Given the description of an element on the screen output the (x, y) to click on. 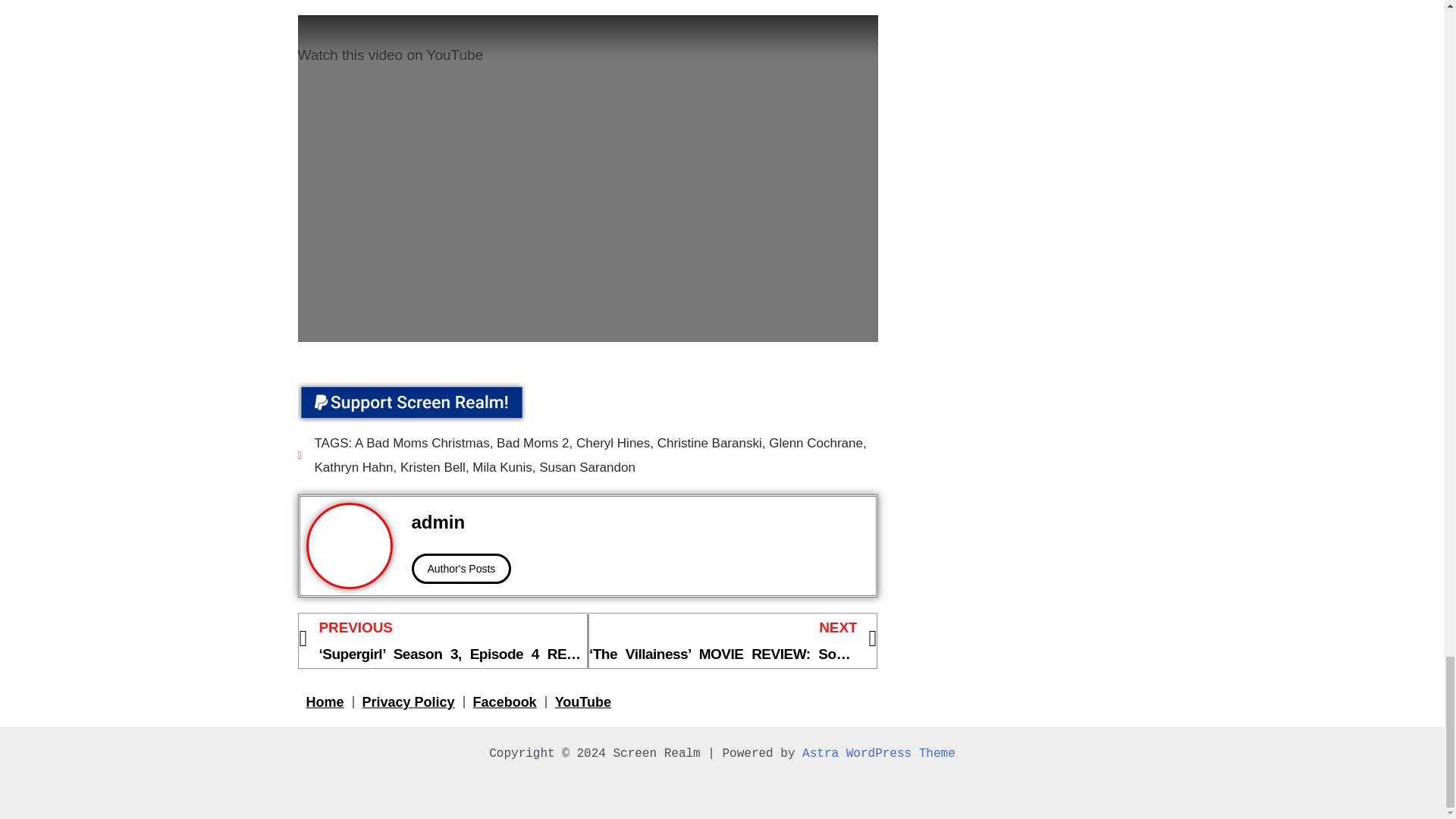
Kristen Bell (432, 467)
A Bad Moms Christmas (422, 442)
Christine Baranski (709, 442)
Susan Sarandon (586, 467)
Cheryl Hines (612, 442)
Kathryn Hahn (353, 467)
Author's Posts (460, 568)
admin (639, 522)
Bad Moms 2 (532, 442)
Mila Kunis (501, 467)
